Given the description of an element on the screen output the (x, y) to click on. 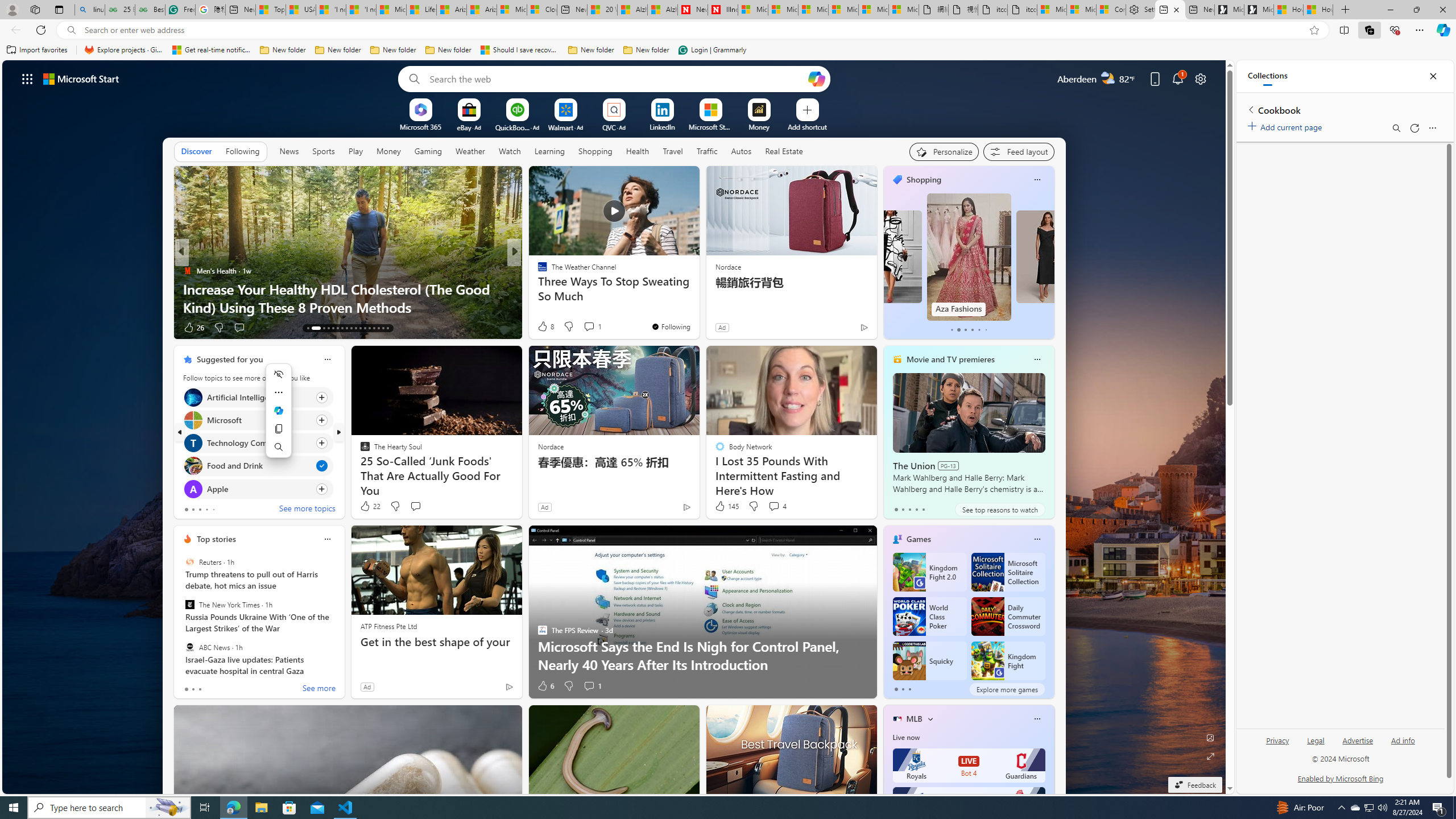
Ask Copilot (278, 410)
2k Like (543, 327)
Login | Grammarly (712, 49)
Body Network (537, 288)
View comments 1 Comment (588, 685)
Movie and TV premieres (949, 359)
You're following The Weather Channel (670, 326)
Consumer Health Data Privacy Policy (1111, 9)
Travel (672, 151)
Favorites bar (728, 49)
Autos (740, 151)
20 Ways to Boost Your Protein Intake at Every Meal (601, 9)
AutomationID: backgroundImagePicture (613, 426)
AutomationID: tab-28 (382, 328)
